Given the description of an element on the screen output the (x, y) to click on. 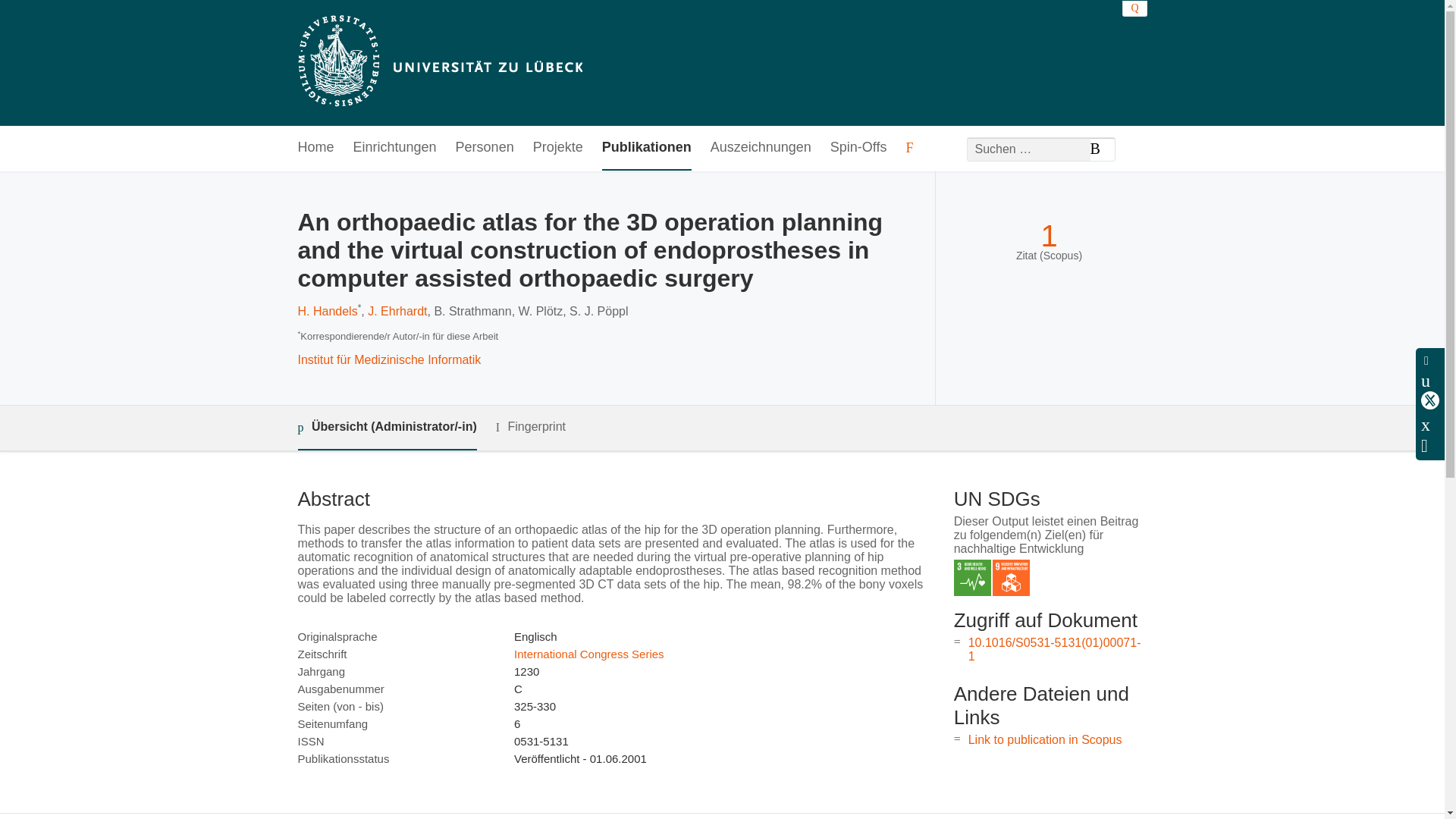
International Congress Series (588, 653)
J. Ehrhardt (397, 310)
Personen (484, 148)
H. Handels (326, 310)
Link to publication in Scopus (1045, 739)
Spin-Offs (857, 148)
Projekte (557, 148)
Fingerprint (531, 426)
Auszeichnungen (760, 148)
Einrichtungen (394, 148)
Publikationen (646, 148)
